Given the description of an element on the screen output the (x, y) to click on. 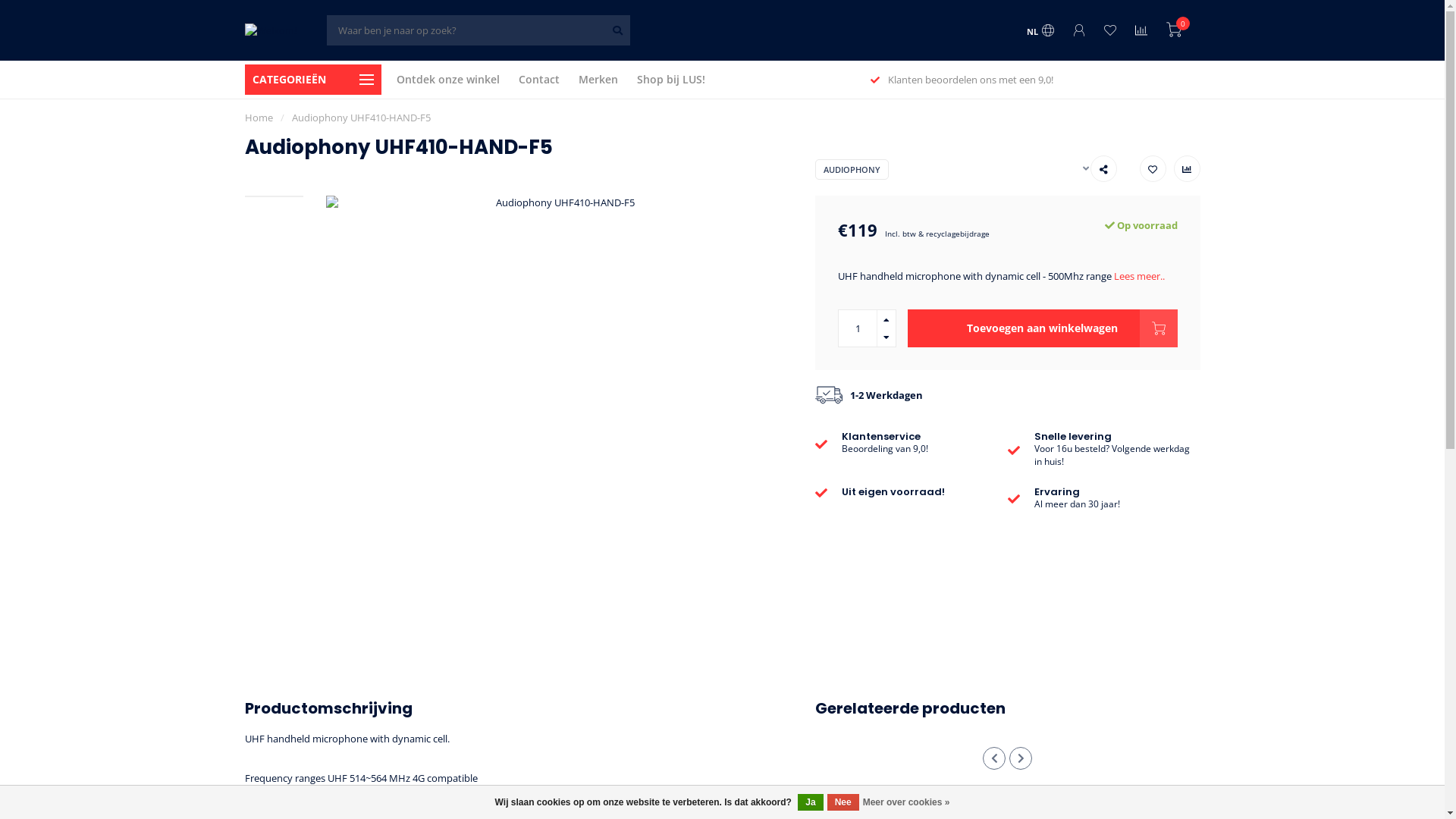
Ontdek onze winkel Element type: text (446, 79)
Deel dit product Element type: hover (1103, 168)
Lees meer.. Element type: text (1138, 275)
AUDIOPHONY Element type: text (851, 169)
Mijn account Element type: hover (1078, 31)
Audiophony UHF410-HAND-F5 Element type: text (360, 117)
Shop bij LUS! Element type: text (671, 79)
Nee Element type: text (843, 801)
Ja Element type: text (809, 801)
0 Element type: text (1173, 32)
Merken Element type: text (597, 79)
Verlanglijst Element type: hover (1110, 31)
Aan verlanglijst toevoegen Element type: hover (1152, 168)
Vergelijk Element type: hover (1140, 31)
Toevoegen om te vergelijken Element type: hover (1186, 168)
Toevoegen aan winkelwagen Element type: text (1042, 328)
Contact Element type: text (538, 79)
Home Element type: text (258, 117)
NL Element type: text (1040, 31)
